Given the description of an element on the screen output the (x, y) to click on. 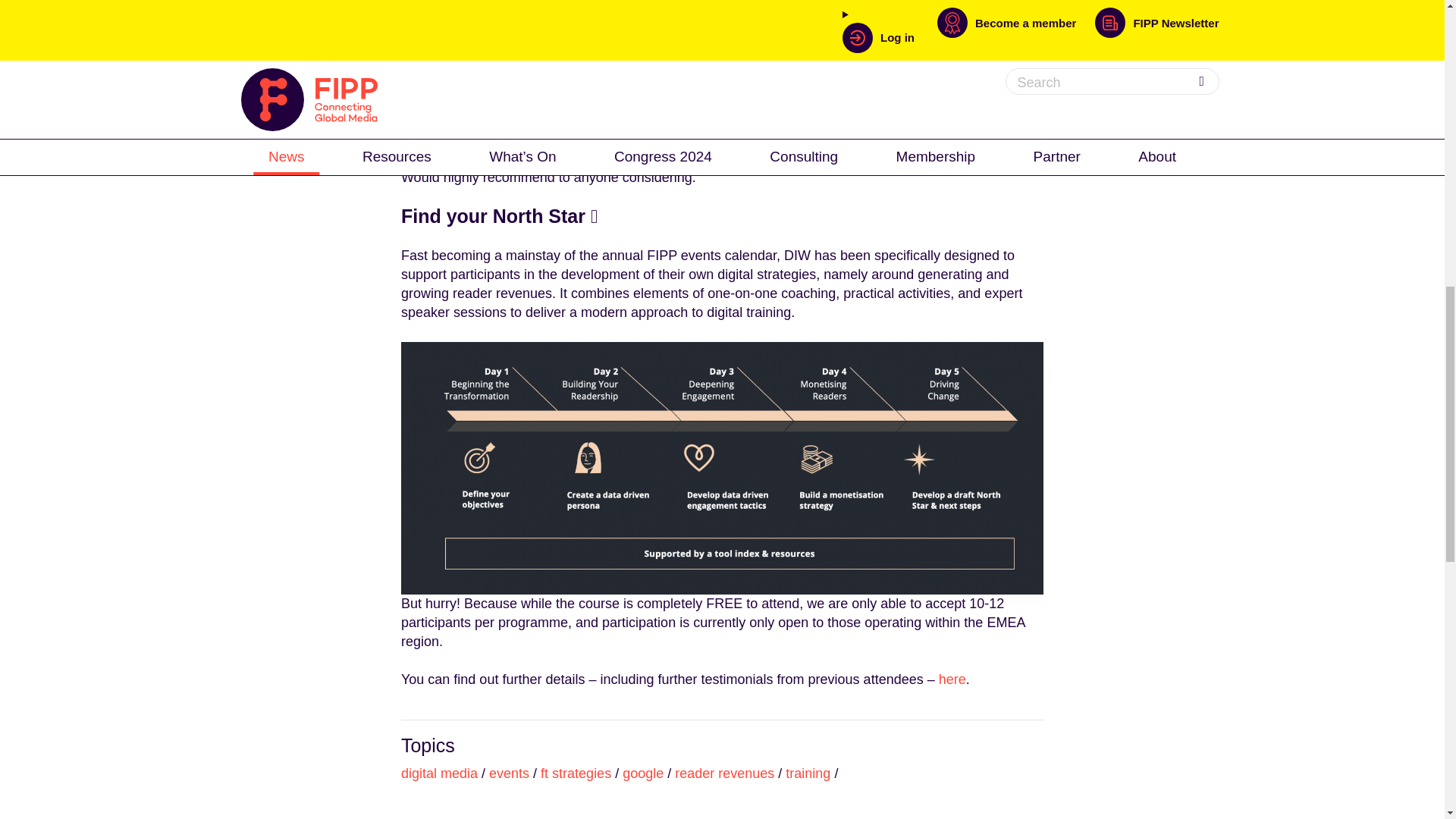
google (643, 773)
reader revenues (724, 773)
here (952, 679)
digital media (439, 773)
ft strategies (575, 773)
events (509, 773)
training (807, 773)
